Given the description of an element on the screen output the (x, y) to click on. 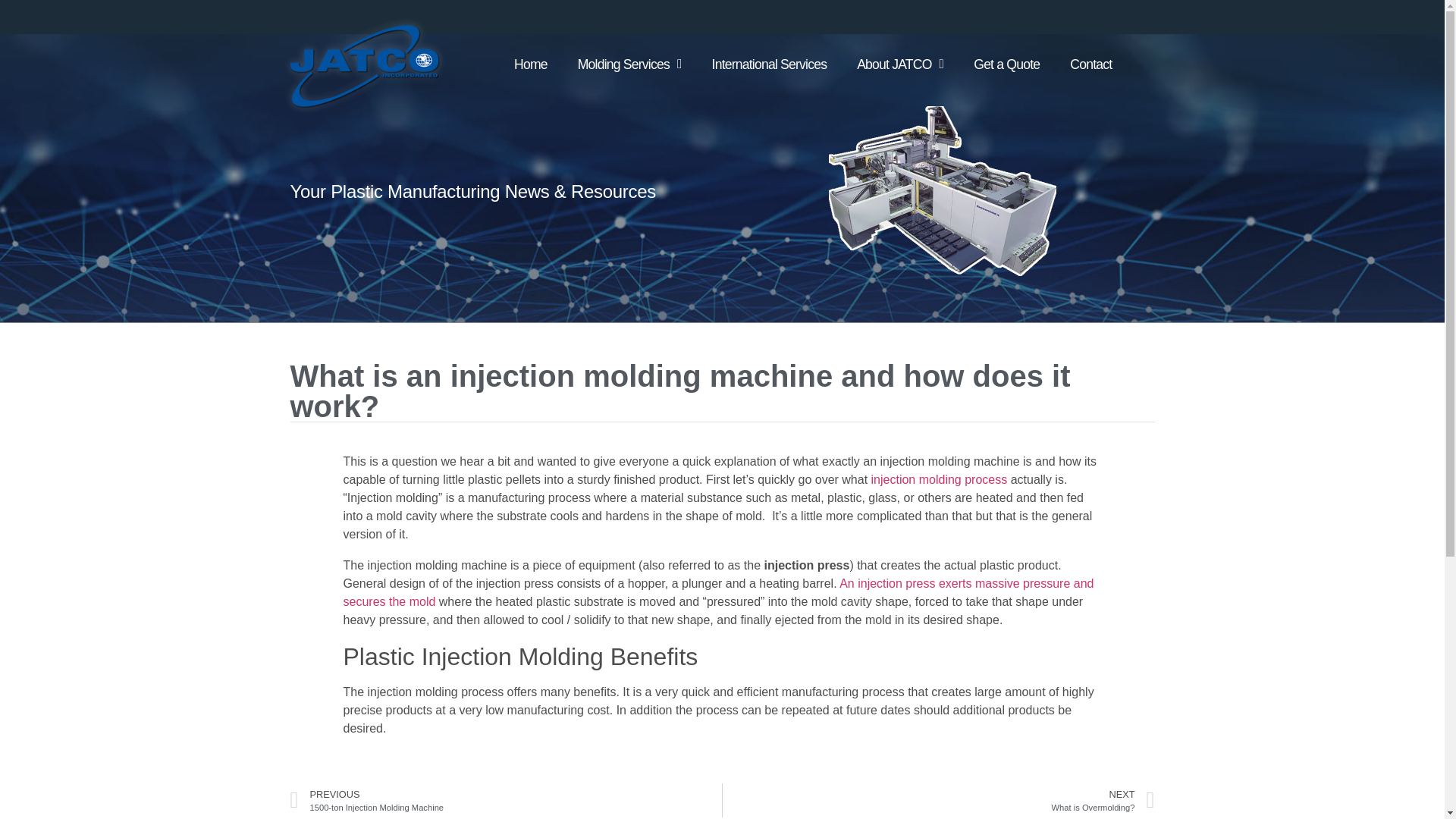
International Services (770, 63)
About JATCO (899, 63)
Molding Services (629, 63)
Contact (1090, 63)
machine2 (941, 191)
Get a Quote (1006, 63)
Home (530, 63)
